Given the description of an element on the screen output the (x, y) to click on. 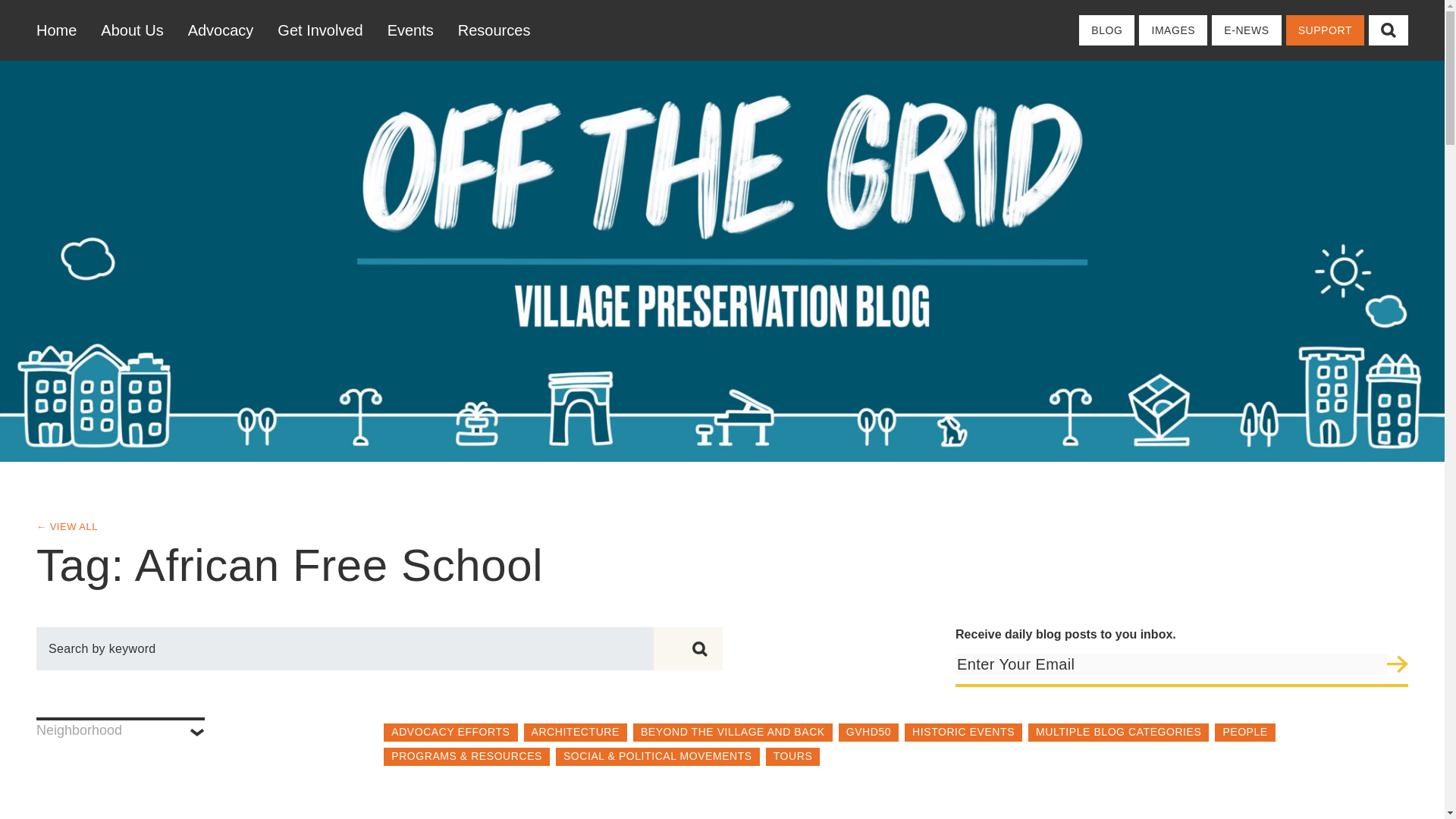
Advocacy (221, 30)
Home (62, 30)
About Us (131, 30)
Get Involved (319, 30)
Events (410, 30)
